Given the description of an element on the screen output the (x, y) to click on. 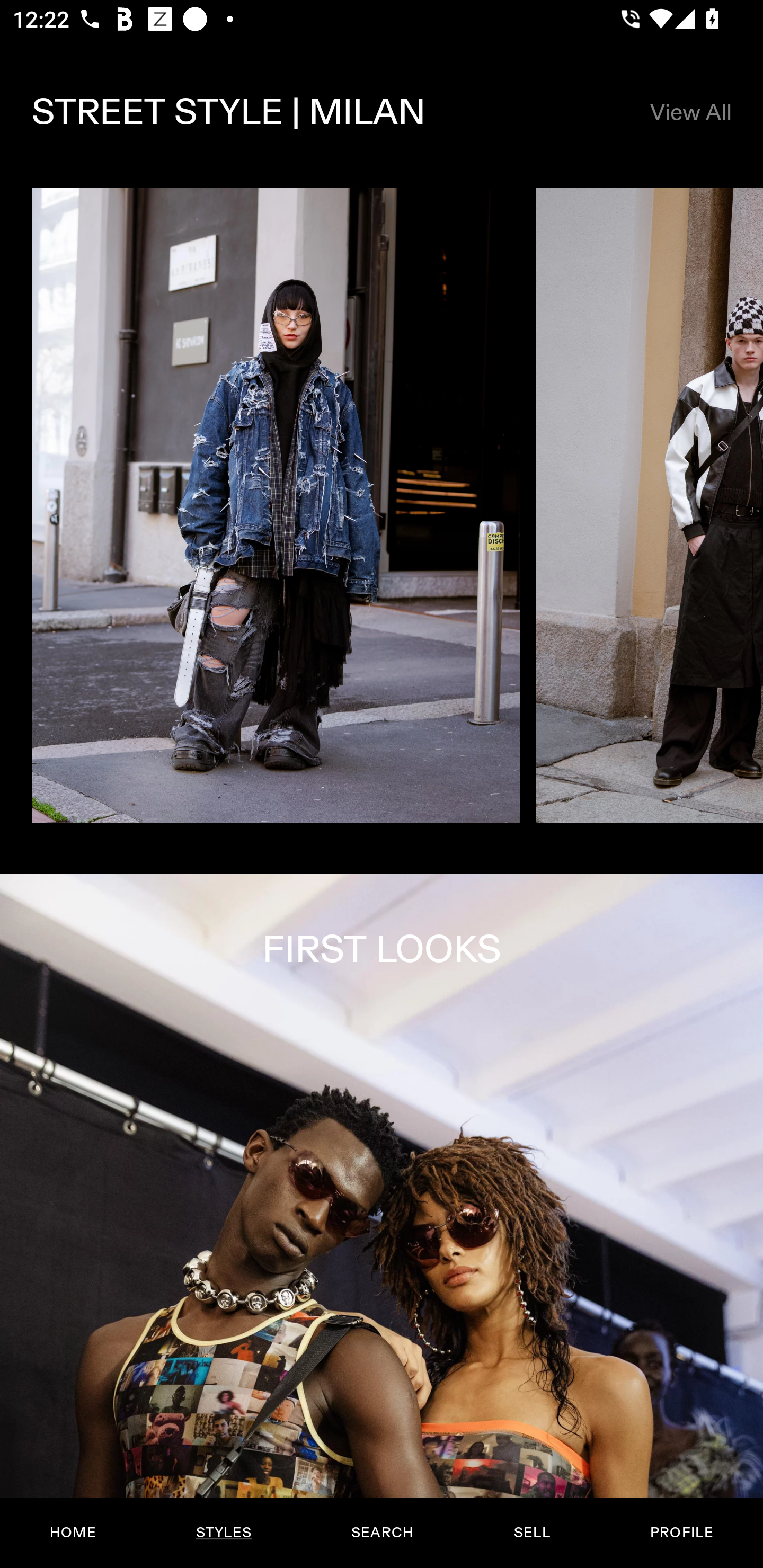
View All (690, 112)
FIRST LOOKS DIESEL FALL '24 (381, 1220)
HOME (72, 1532)
STYLES (222, 1532)
SEARCH (381, 1532)
SELL (531, 1532)
PROFILE (681, 1532)
